Given the description of an element on the screen output the (x, y) to click on. 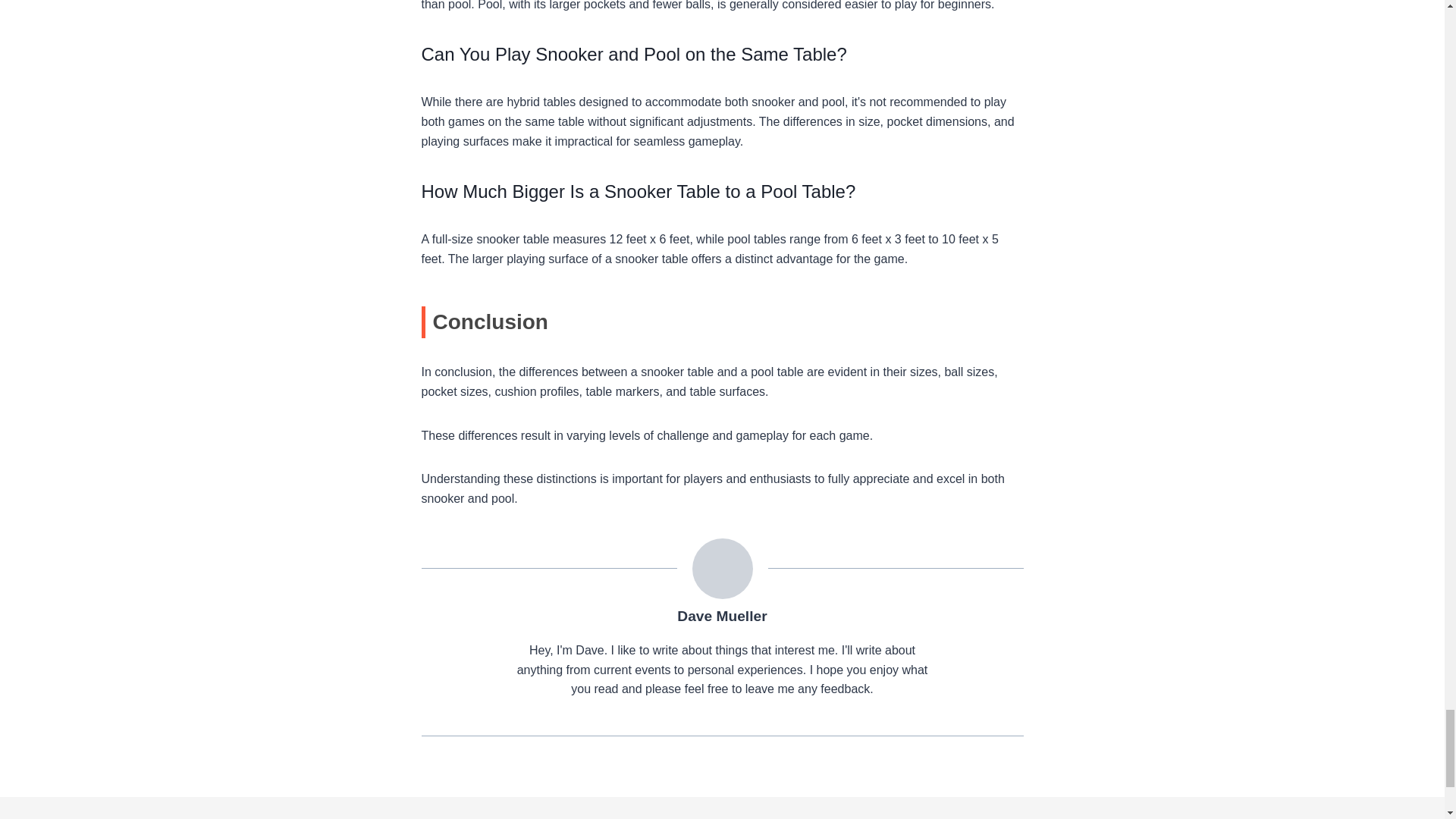
Posts by Dave Mueller (722, 616)
